Given the description of an element on the screen output the (x, y) to click on. 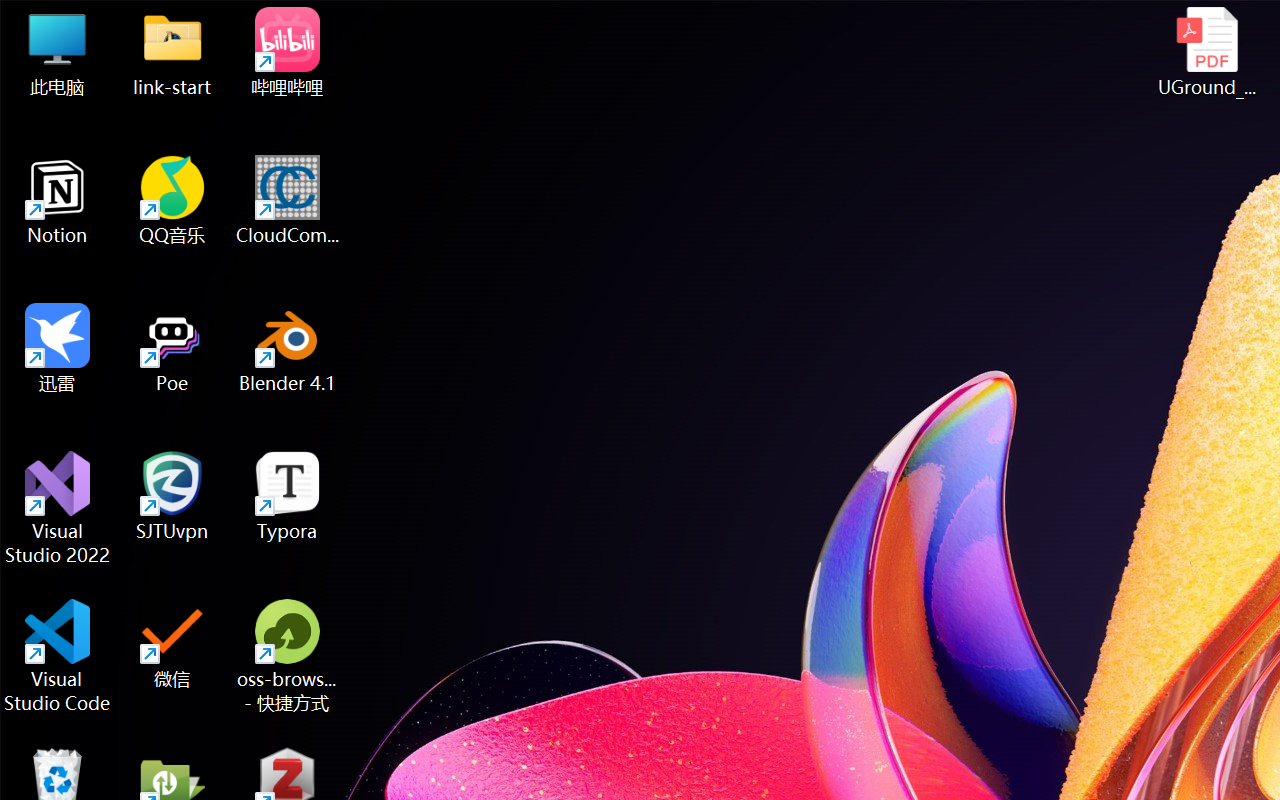
Typora (287, 496)
CloudCompare (287, 200)
Visual Studio Code (57, 656)
Visual Studio 2022 (57, 508)
UGround_paper.pdf (1206, 52)
Blender 4.1 (287, 348)
